Given the description of an element on the screen output the (x, y) to click on. 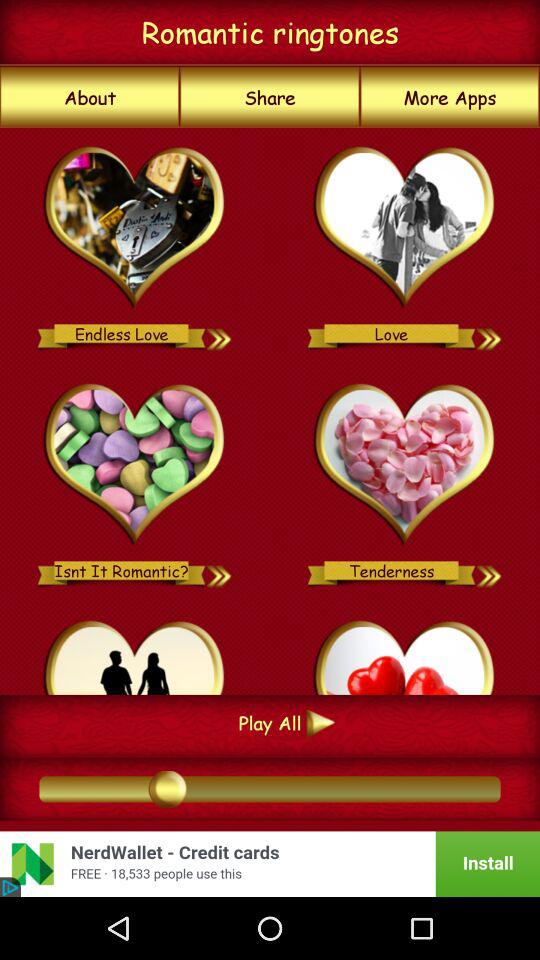
next button (220, 333)
